Given the description of an element on the screen output the (x, y) to click on. 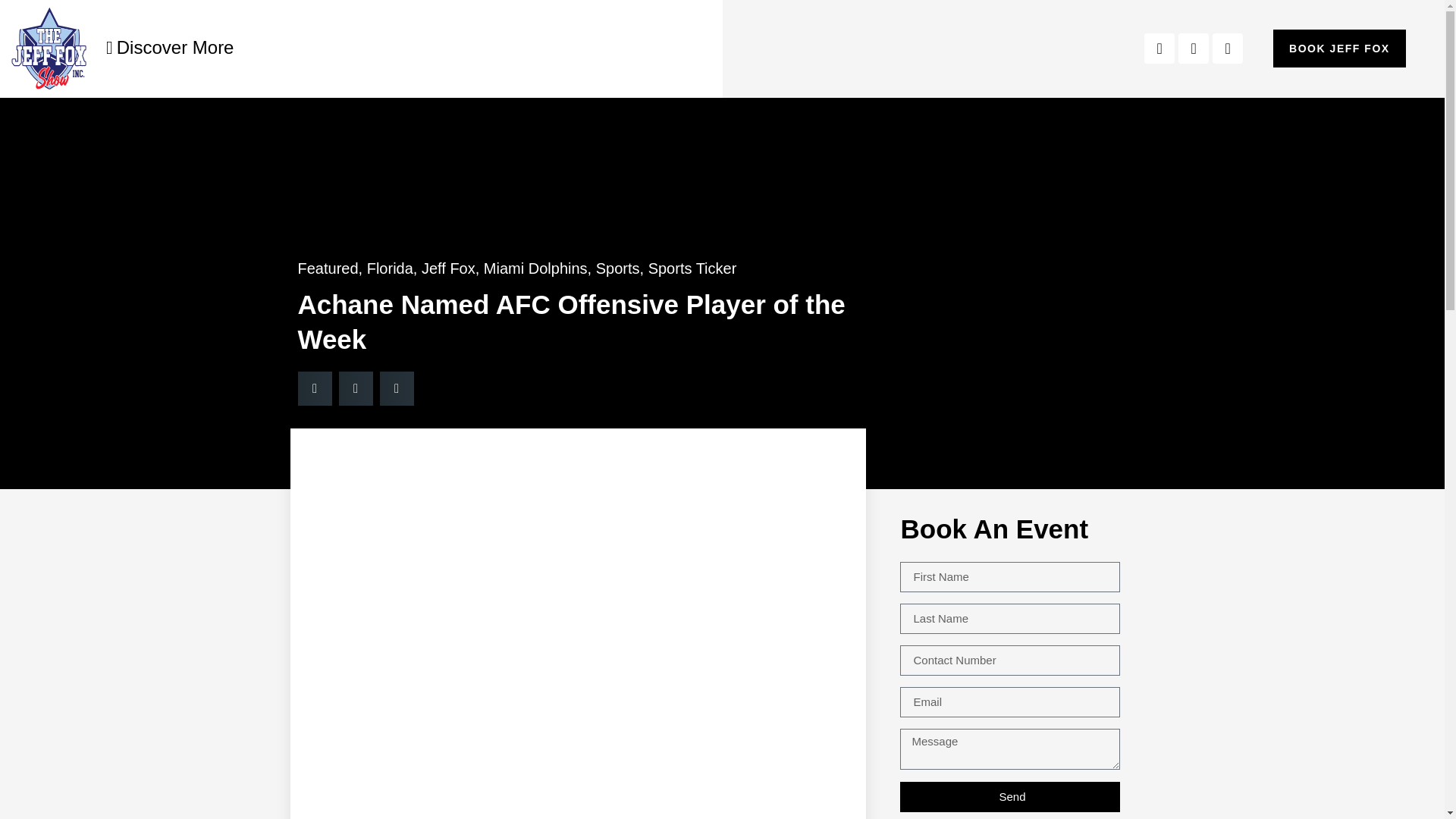
BOOK JEFF FOX (1339, 48)
Sports (617, 268)
Featured (327, 268)
Miami Dolphins (535, 268)
Jeff Fox (449, 268)
Sports Ticker (691, 268)
Discover More (169, 46)
Florida (389, 268)
Send (1009, 796)
